Given the description of an element on the screen output the (x, y) to click on. 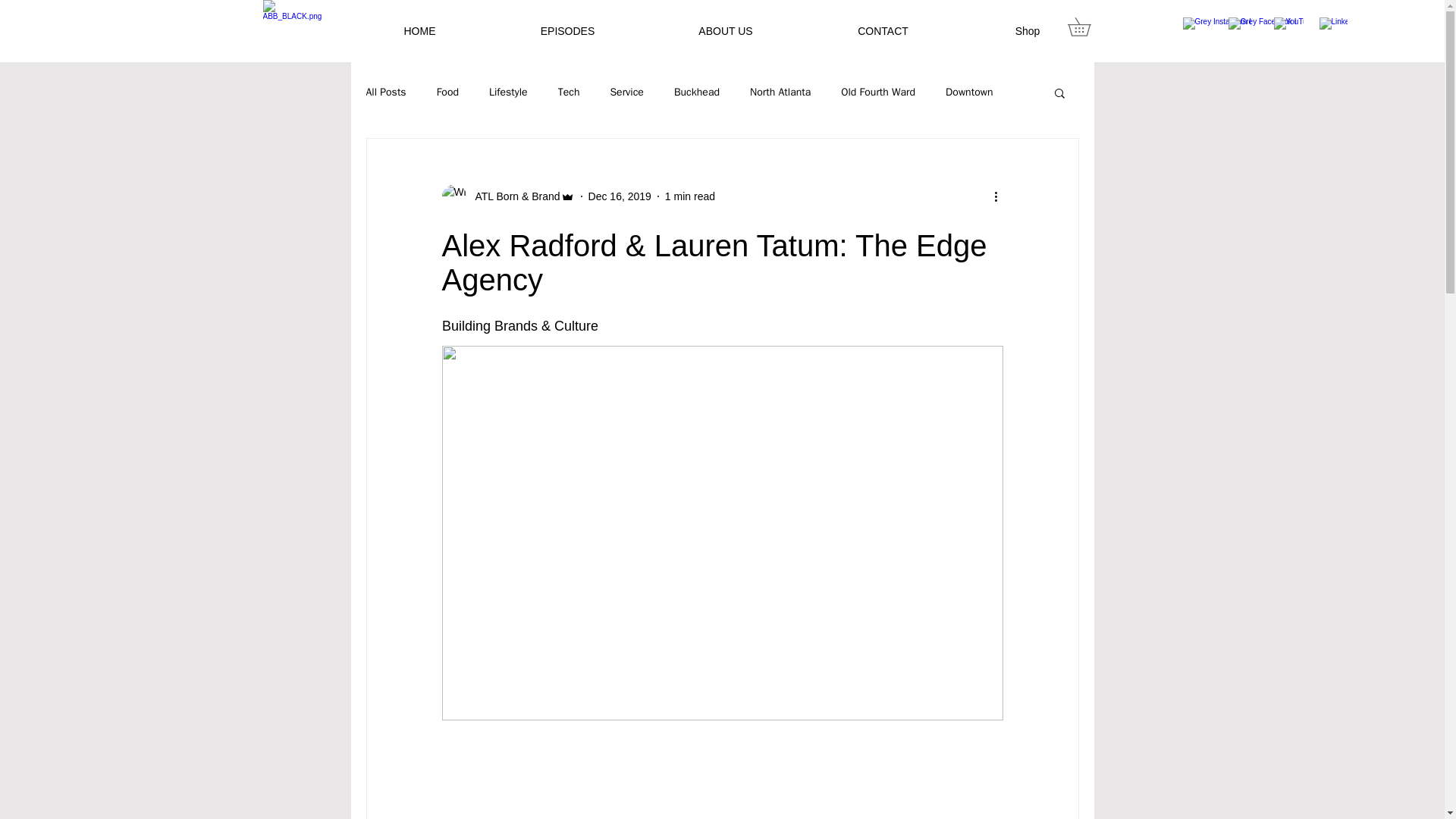
Old Fourth Ward (878, 92)
Shop (1027, 31)
All Posts (385, 92)
EPISODES (566, 31)
CONTACT (882, 31)
Dec 16, 2019 (619, 195)
North Atlanta (779, 92)
HOME (418, 31)
Lifestyle (508, 92)
Downtown (968, 92)
